Given the description of an element on the screen output the (x, y) to click on. 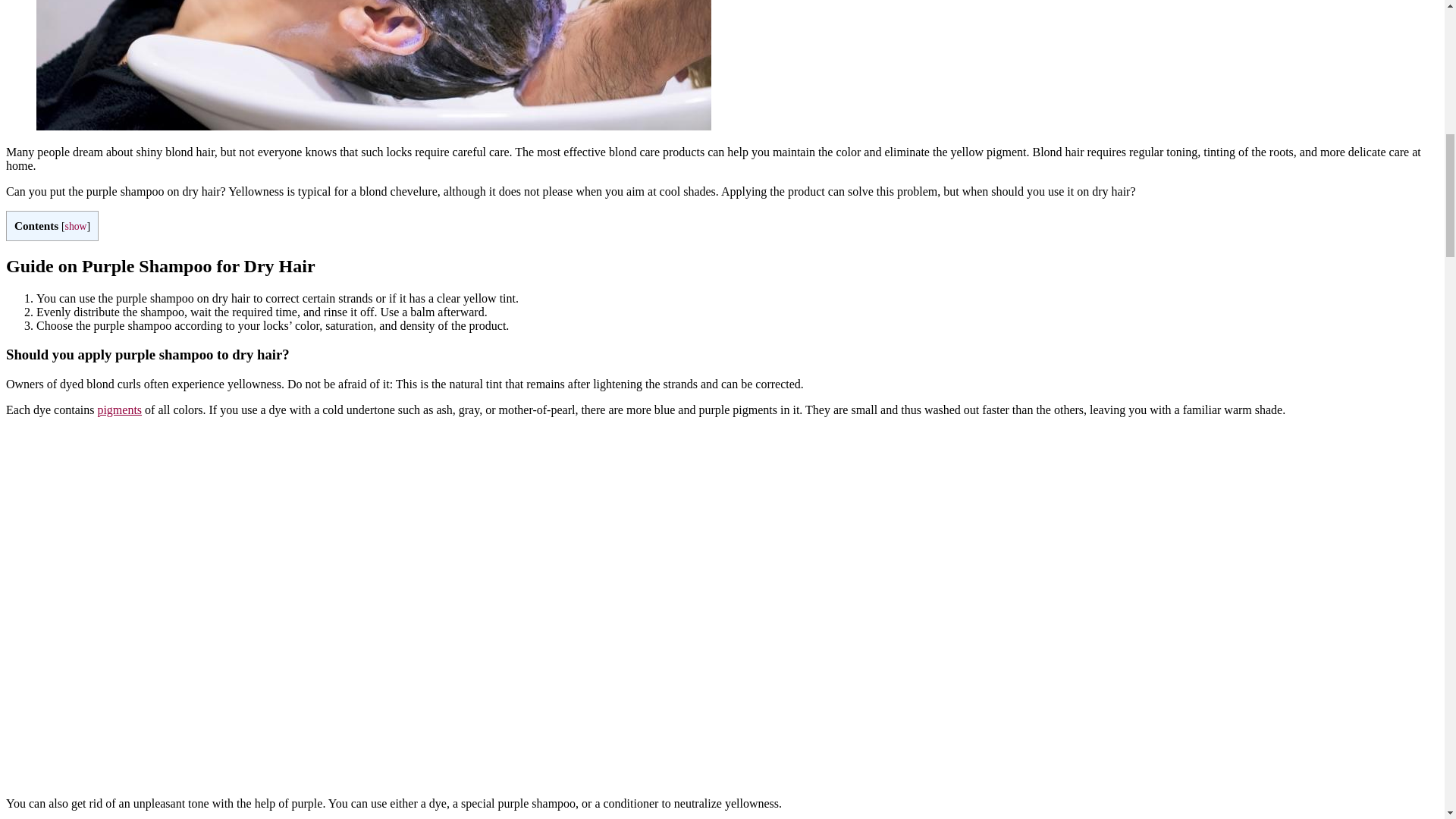
show (76, 225)
